Given the description of an element on the screen output the (x, y) to click on. 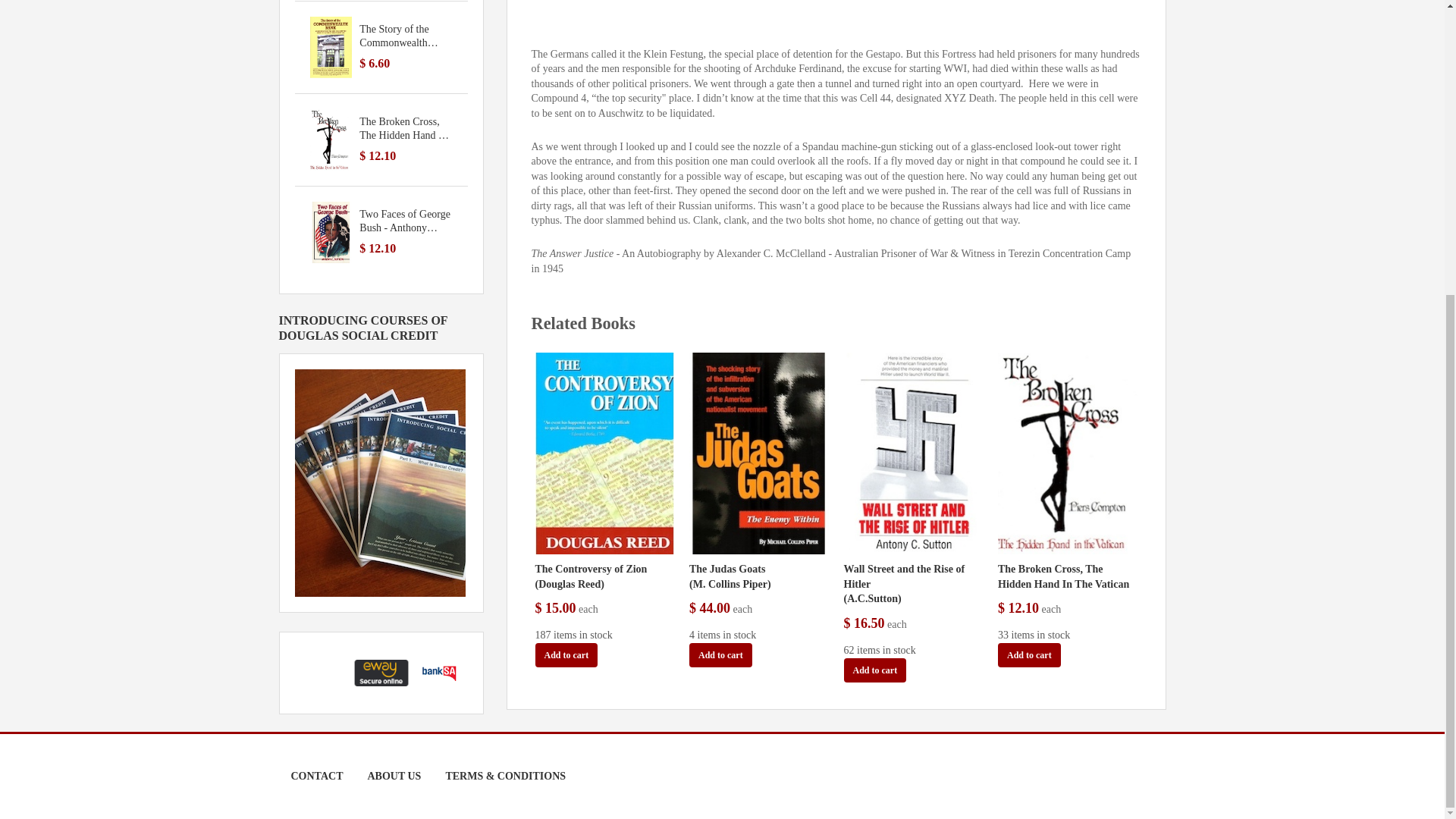
eWAY Payment Gateway (380, 672)
BankSA (438, 672)
Douglas SociaL Credit Training (379, 481)
Add to cart (566, 654)
